Given the description of an element on the screen output the (x, y) to click on. 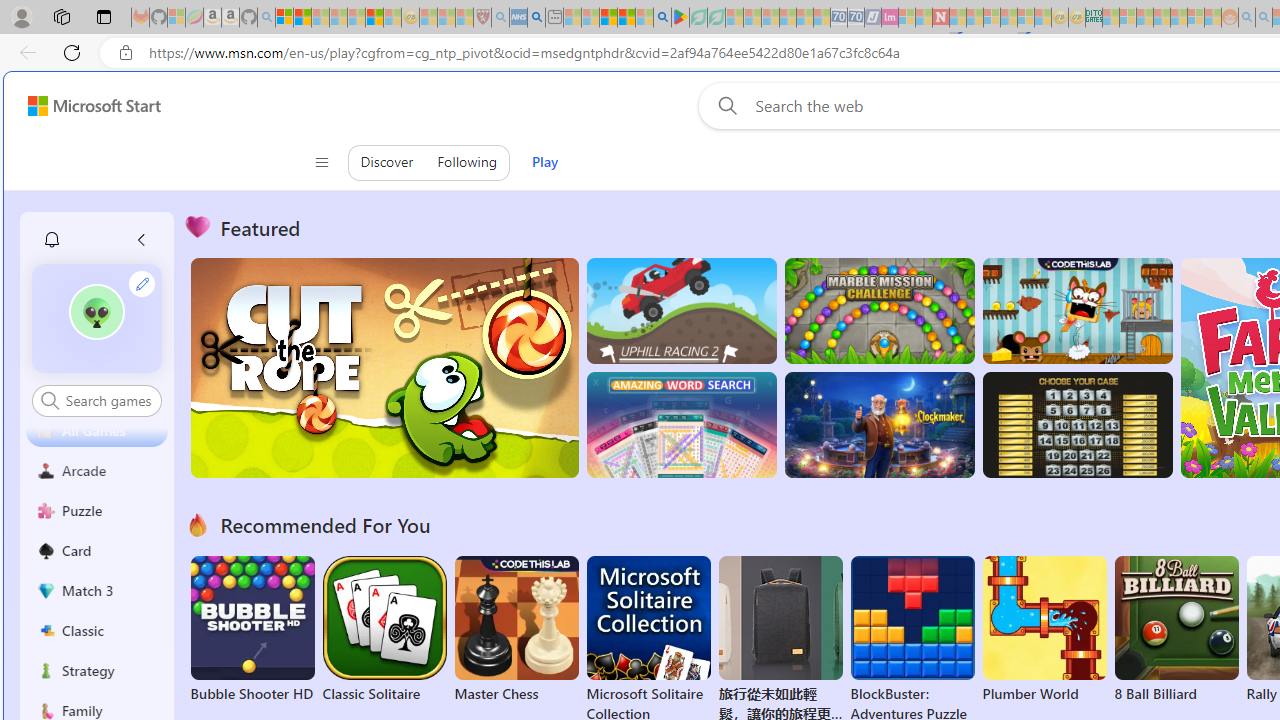
Master Chess (516, 629)
Marble Mission : Challenge (879, 310)
""'s avatar (97, 318)
Clockmaker (879, 425)
Bluey: Let's Play! - Apps on Google Play (680, 17)
